Given the description of an element on the screen output the (x, y) to click on. 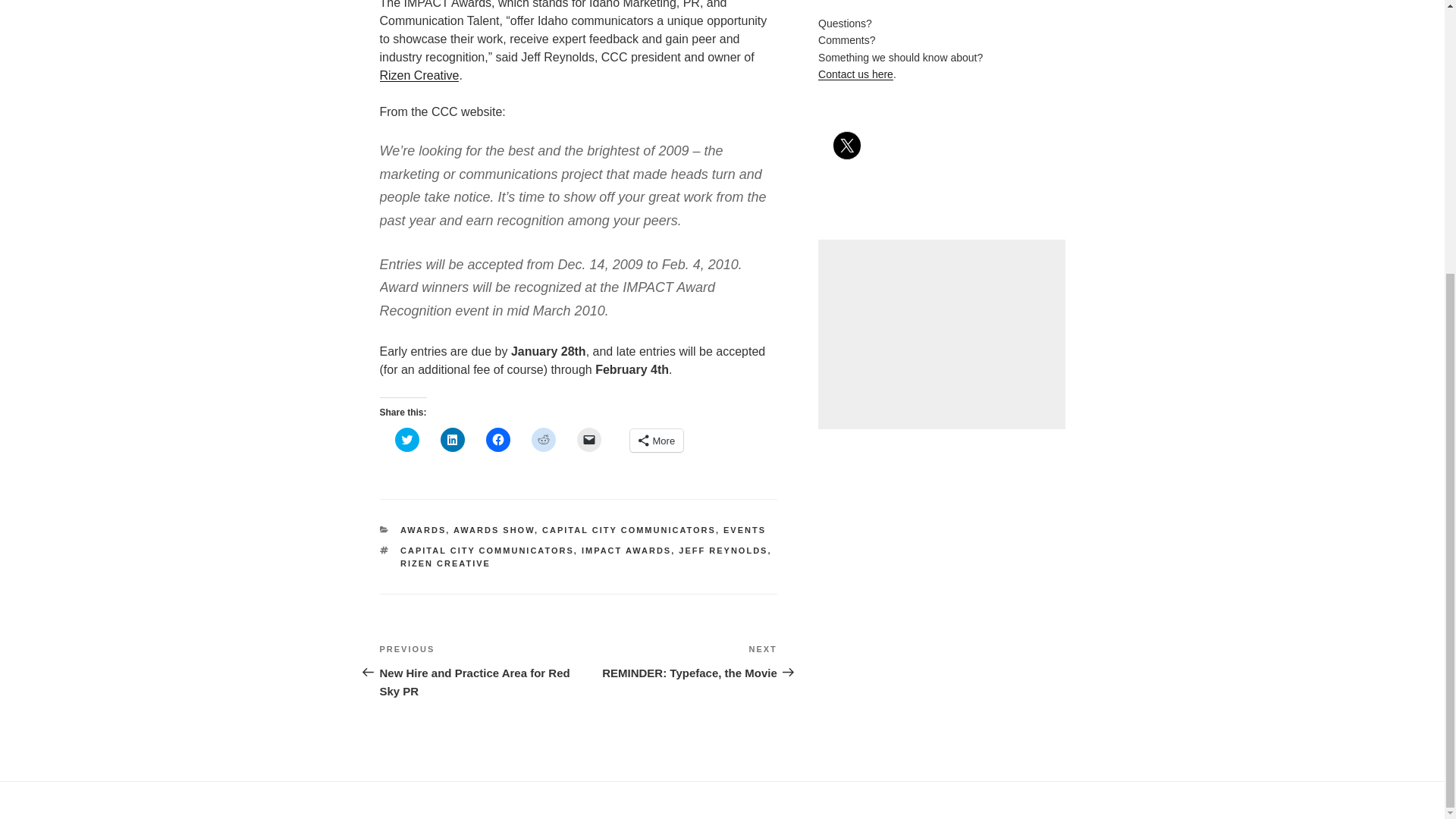
AWARDS SHOW (493, 529)
Click to share on LinkedIn (451, 439)
CAPITAL CITY COMMUNICATORS (628, 529)
More (655, 440)
JEFF REYNOLDS (722, 550)
IMPACT AWARDS (625, 550)
EVENTS (744, 529)
Rizen Creative (677, 660)
RIZEN CREATIVE (418, 74)
Click to share on Facebook (445, 563)
CAPITAL CITY COMMUNICATORS (496, 439)
Click to email a link to a friend (486, 550)
Click to share on Twitter (587, 439)
